Given the description of an element on the screen output the (x, y) to click on. 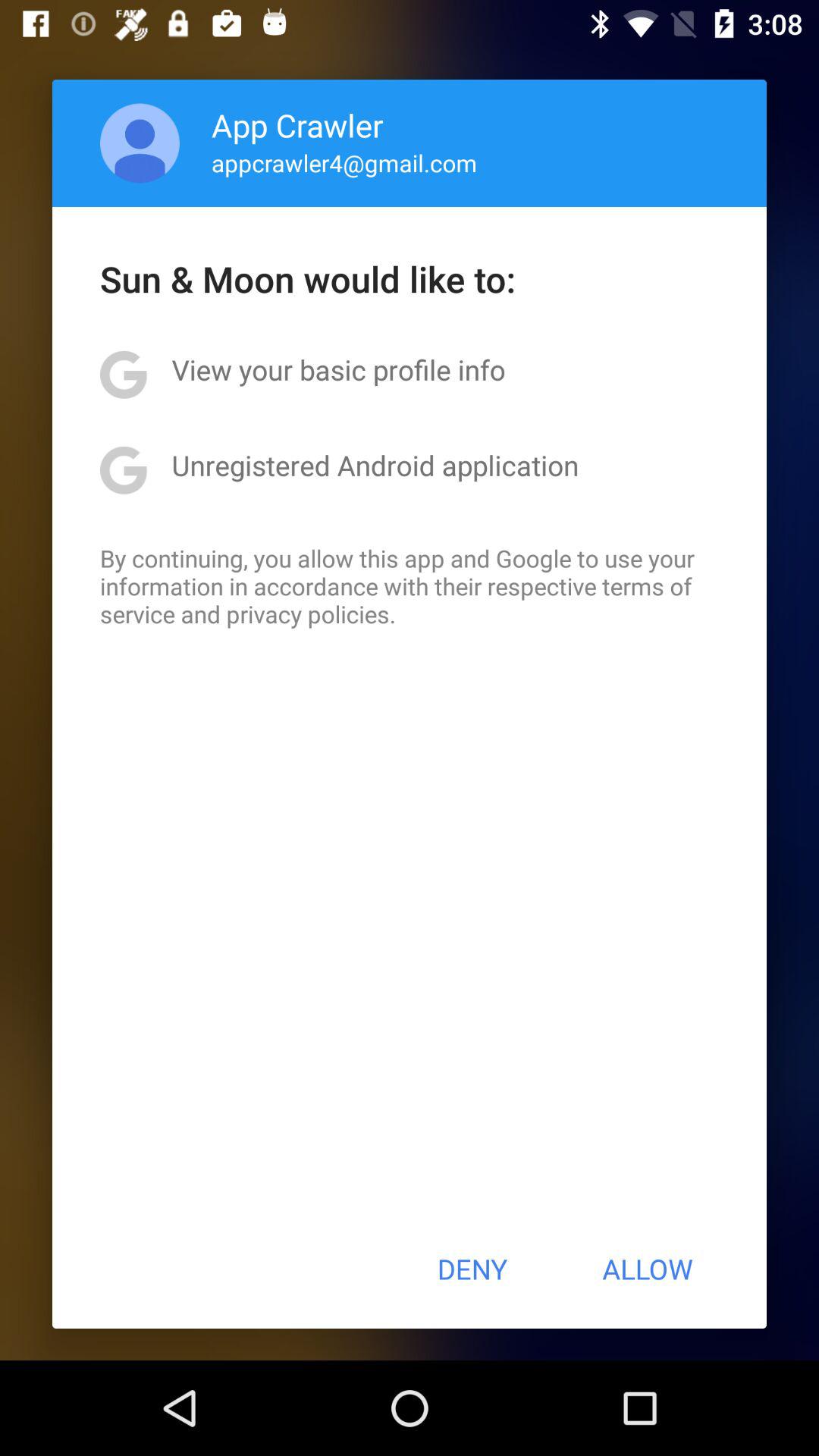
select the button at the bottom (471, 1268)
